Given the description of an element on the screen output the (x, y) to click on. 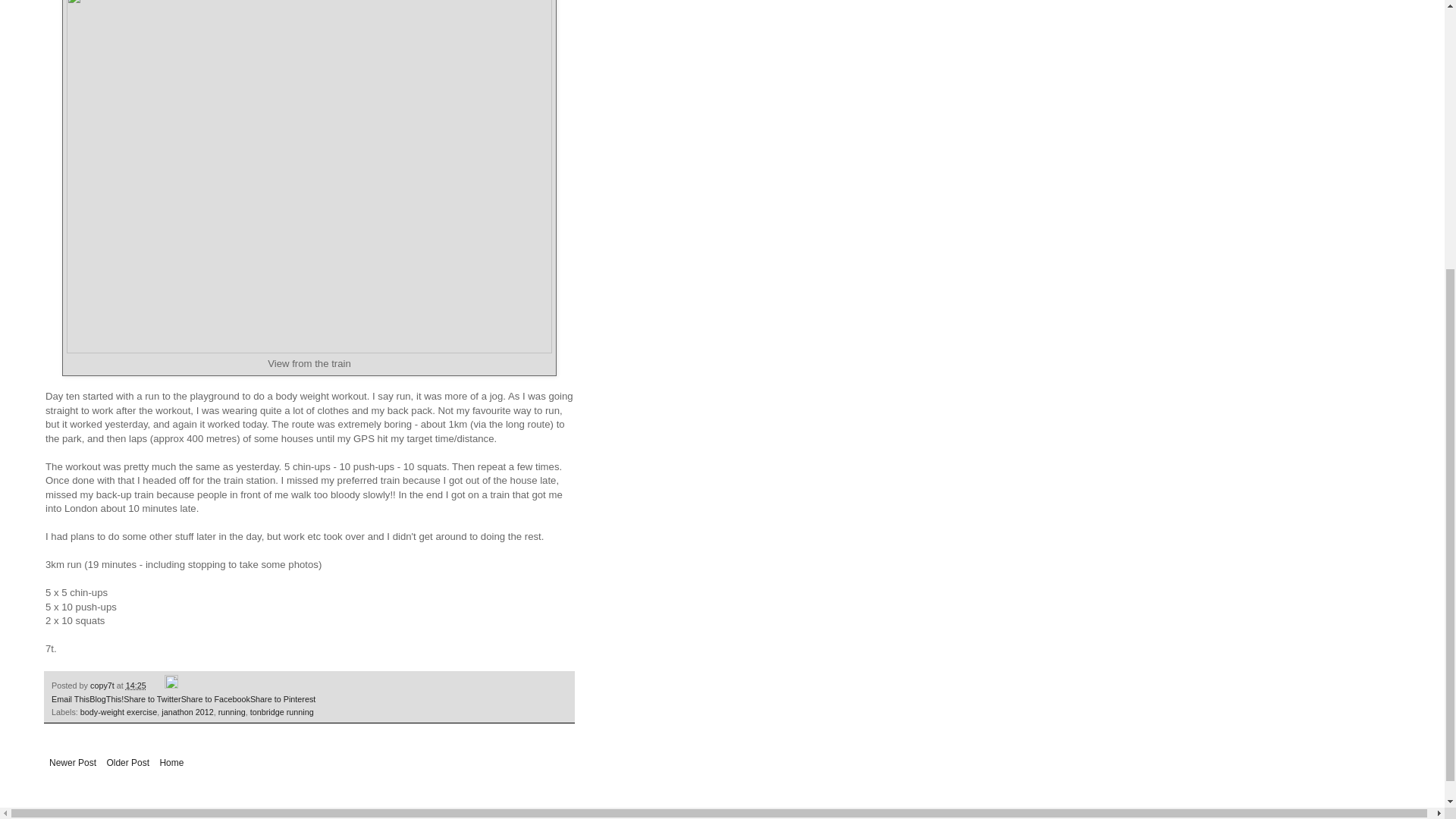
janathon 2012 (186, 711)
BlogThis! (105, 698)
Email Post (156, 685)
Share to Facebook (215, 698)
14:25 (136, 685)
Share to Facebook (215, 698)
Edit Post (170, 685)
Email This (69, 698)
author profile (103, 685)
Share to Pinterest (282, 698)
